Given the description of an element on the screen output the (x, y) to click on. 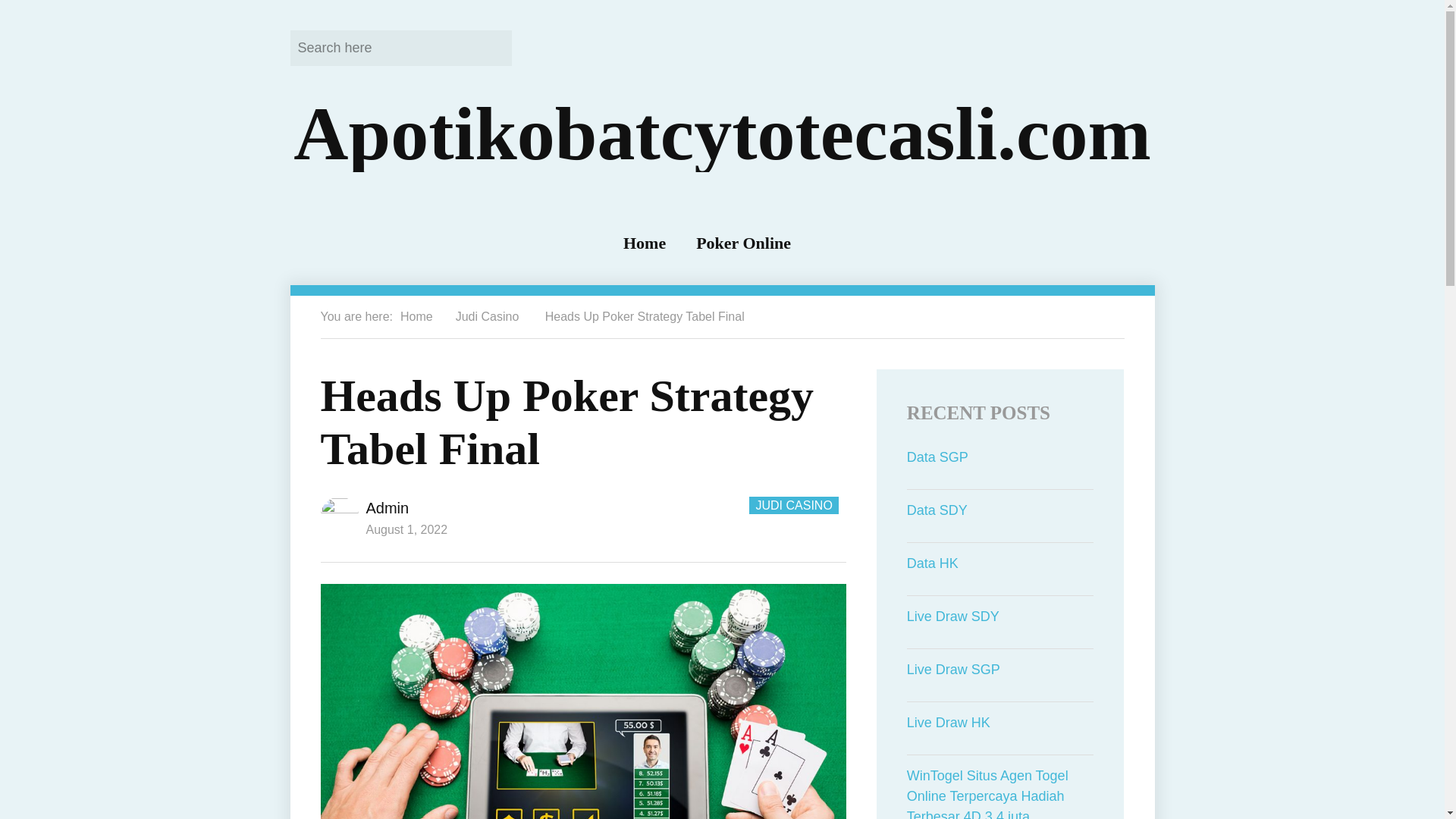
Live Draw SGP (1000, 670)
Admin (387, 507)
Live Draw HK (1000, 722)
Data SGP (1000, 457)
Home (644, 243)
Data SDY (1000, 510)
Apotikobatcytotecasli.com (722, 133)
JUDI CASINO (793, 505)
Data HK (1000, 563)
